Given the description of an element on the screen output the (x, y) to click on. 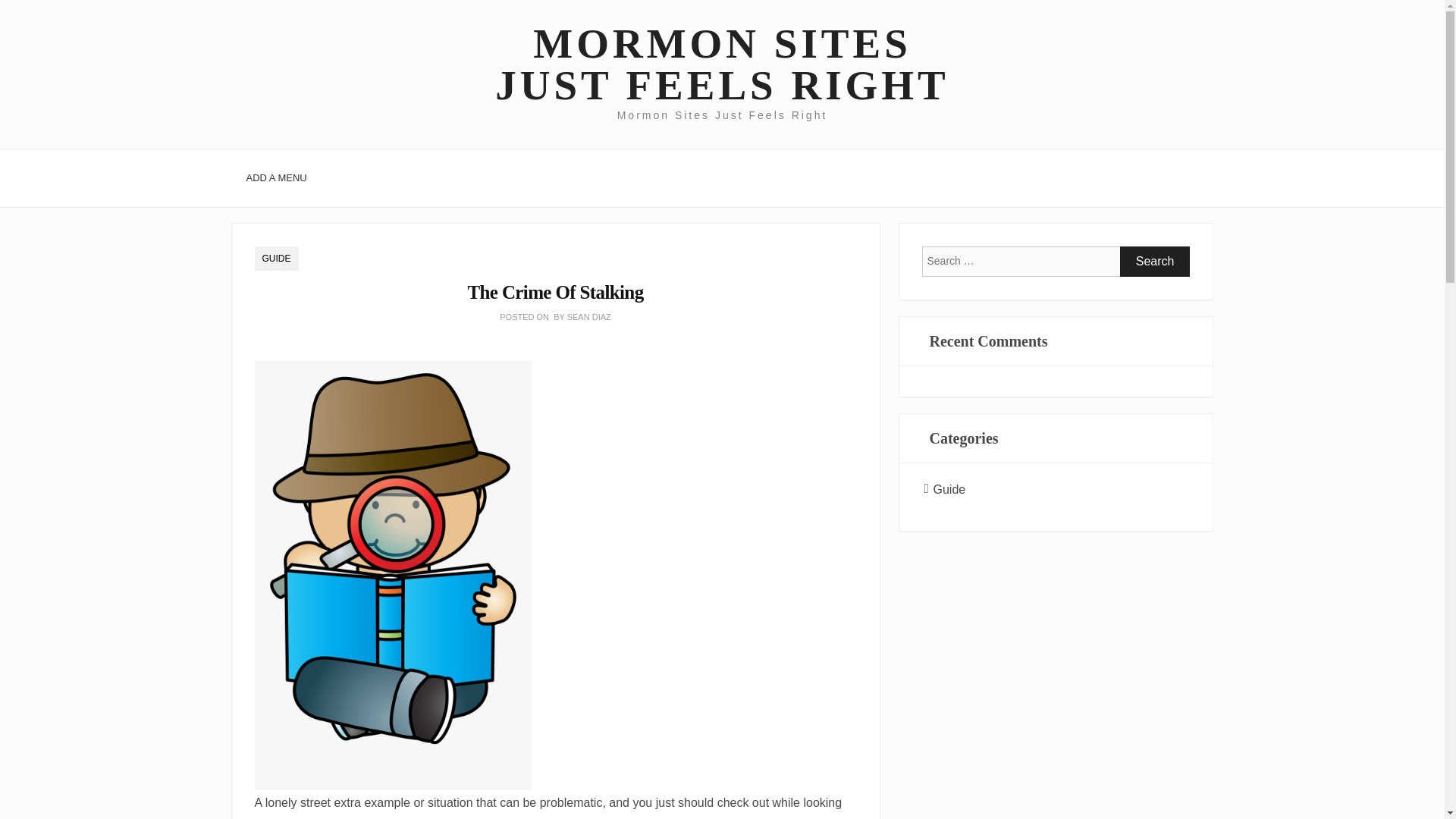
MORMON SITES JUST FEELS RIGHT (721, 64)
SEAN DIAZ (589, 316)
GUIDE (276, 258)
Search (1155, 261)
Guide (949, 489)
ADD A MENU (275, 177)
Search (1155, 261)
Search (1155, 261)
